Given the description of an element on the screen output the (x, y) to click on. 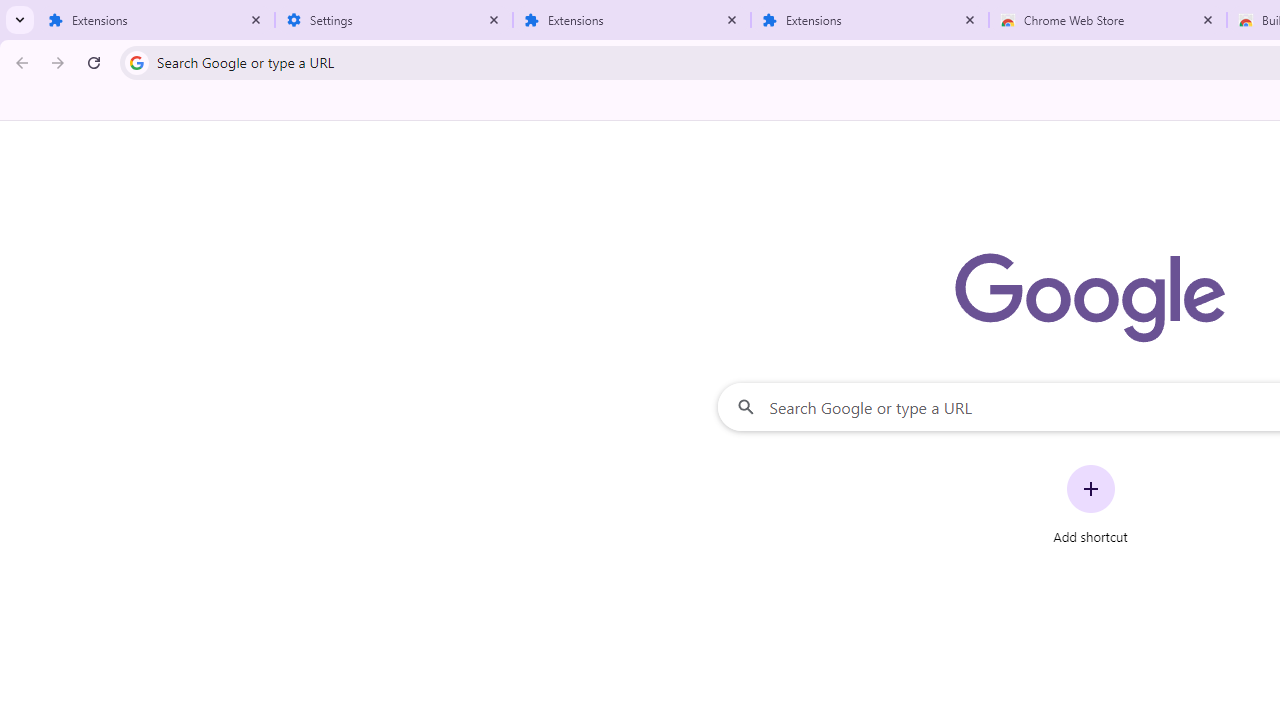
Extensions (156, 20)
Chrome Web Store (1108, 20)
Extensions (632, 20)
Search icon (136, 62)
Extensions (870, 20)
Settings (394, 20)
Add shortcut (1090, 504)
